Given the description of an element on the screen output the (x, y) to click on. 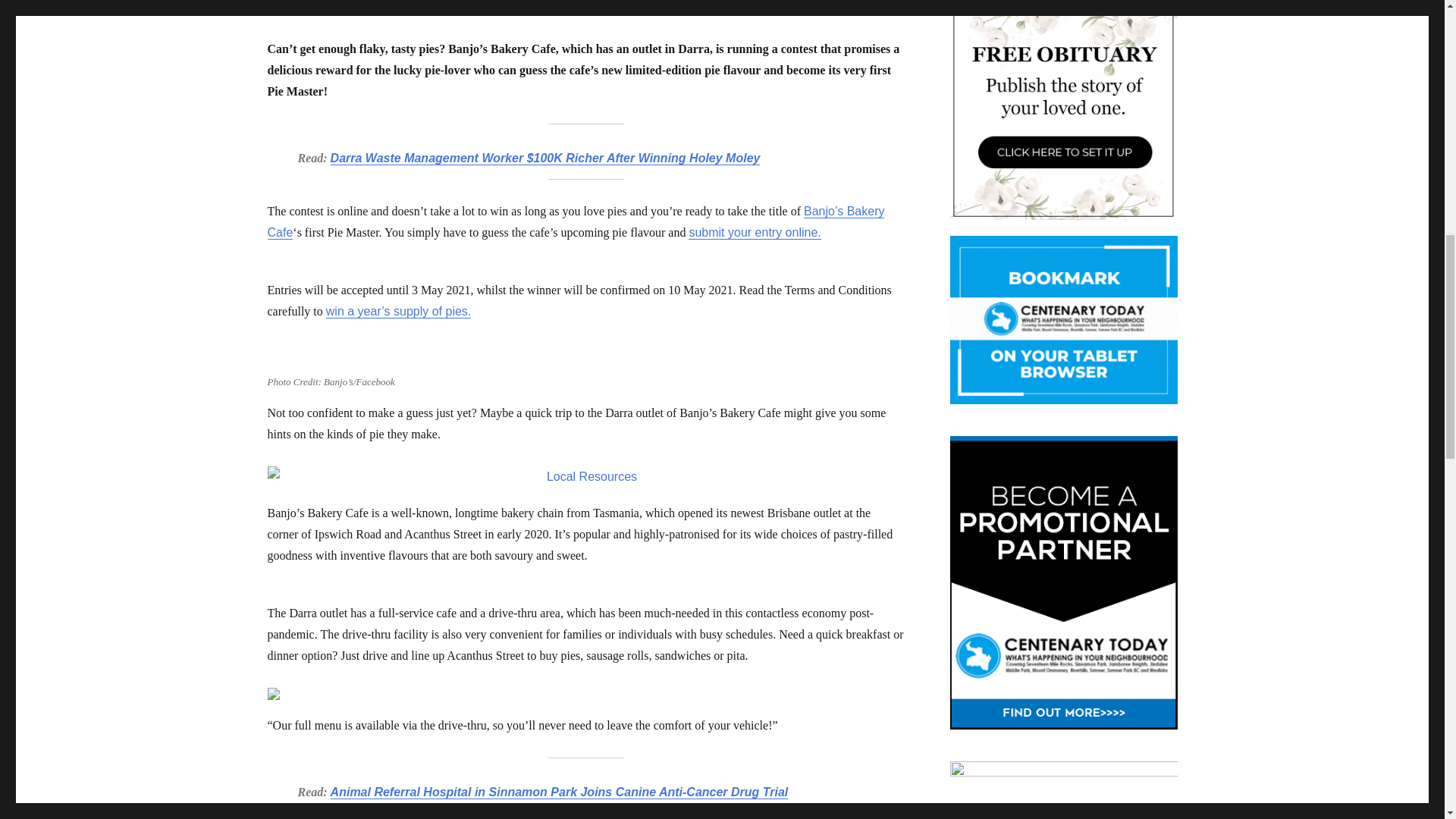
submit your entry online. (754, 232)
